Given the description of an element on the screen output the (x, y) to click on. 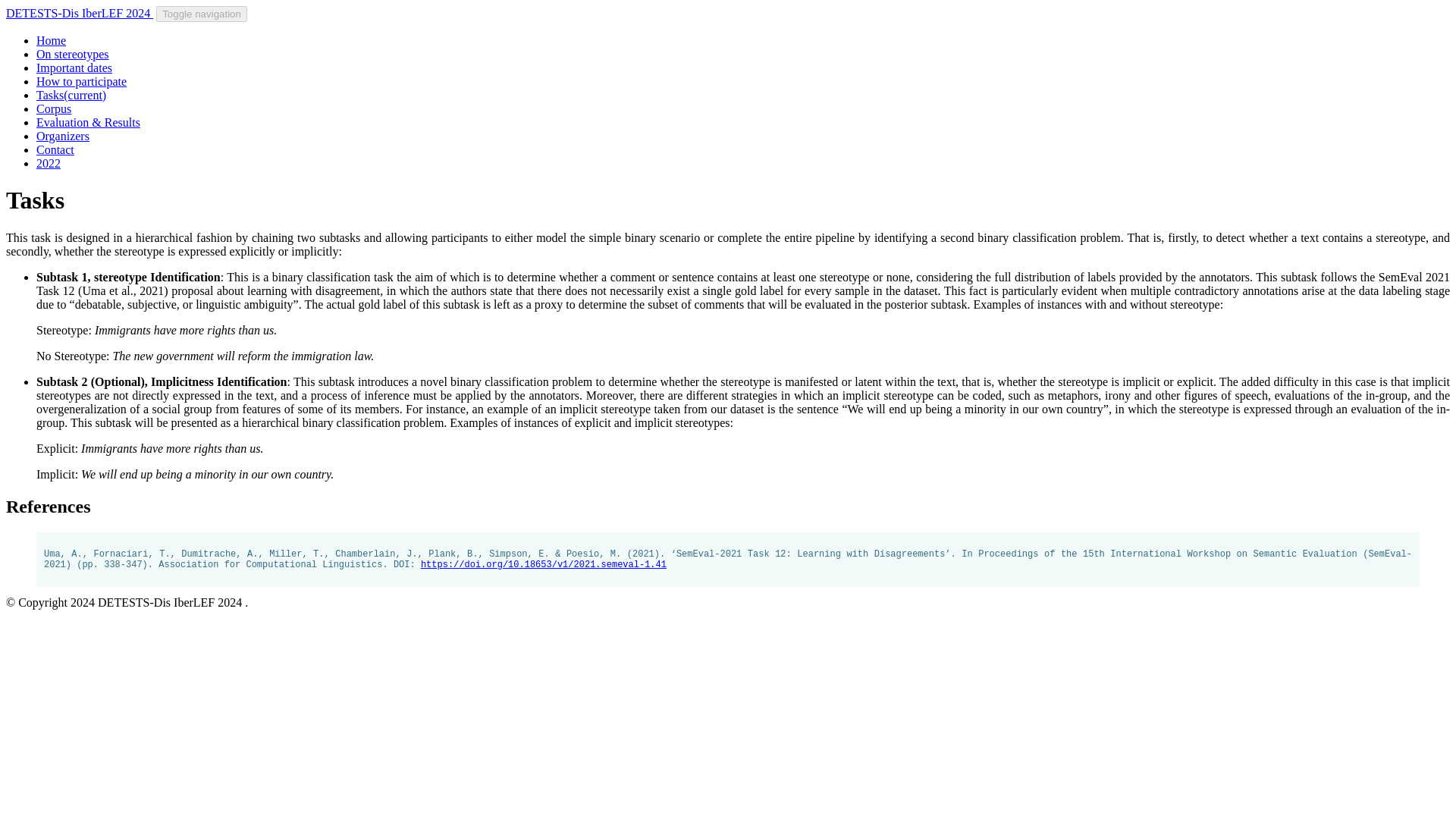
Important dates (74, 67)
Corpus (53, 108)
DETESTS-Dis IberLEF 2024  (78, 12)
2022 (48, 163)
How to participate (81, 81)
Organizers (62, 135)
Contact (55, 149)
Home (50, 40)
Toggle navigation (201, 13)
On stereotypes (72, 53)
